Given the description of an element on the screen output the (x, y) to click on. 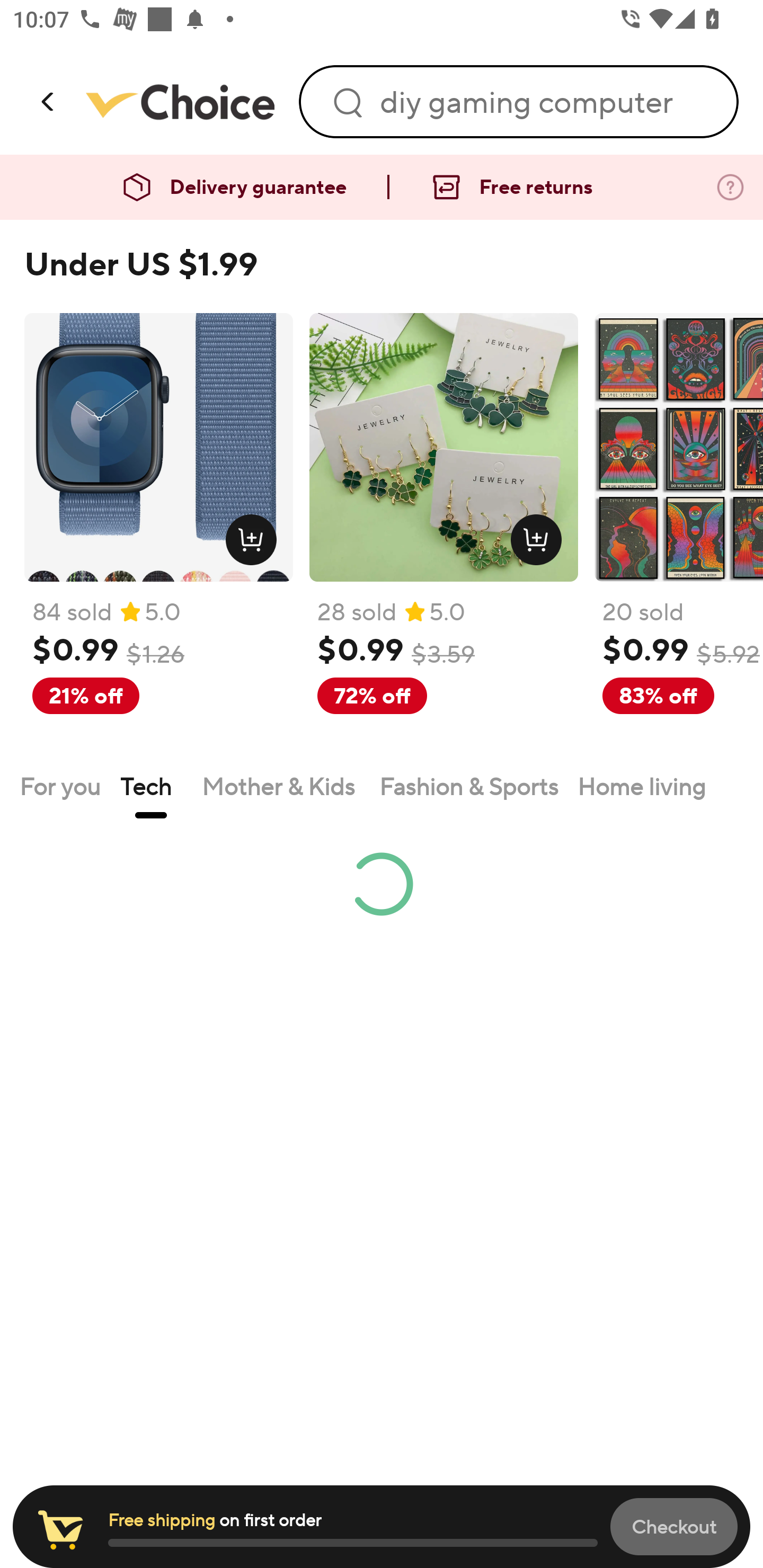
diy gaming computer (546, 101)
 (48, 100)
Delivery guarantee Free returns (381, 187)
84 sold 5.0 $_0.99 $_1.26 21% off (158, 533)
28 sold 5.0 $_0.99 $_3.59 72% off (443, 533)
20 sold $_0.99 $_5.92 83% off (678, 533)
For you (59, 786)
Tech   (150, 786)
Mother & Kids  (280, 786)
Fashion & Sports (468, 786)
Home living (641, 786)
Free shipping on first order 0.0 Checkout (381, 1526)
Checkout (673, 1526)
